Given the description of an element on the screen output the (x, y) to click on. 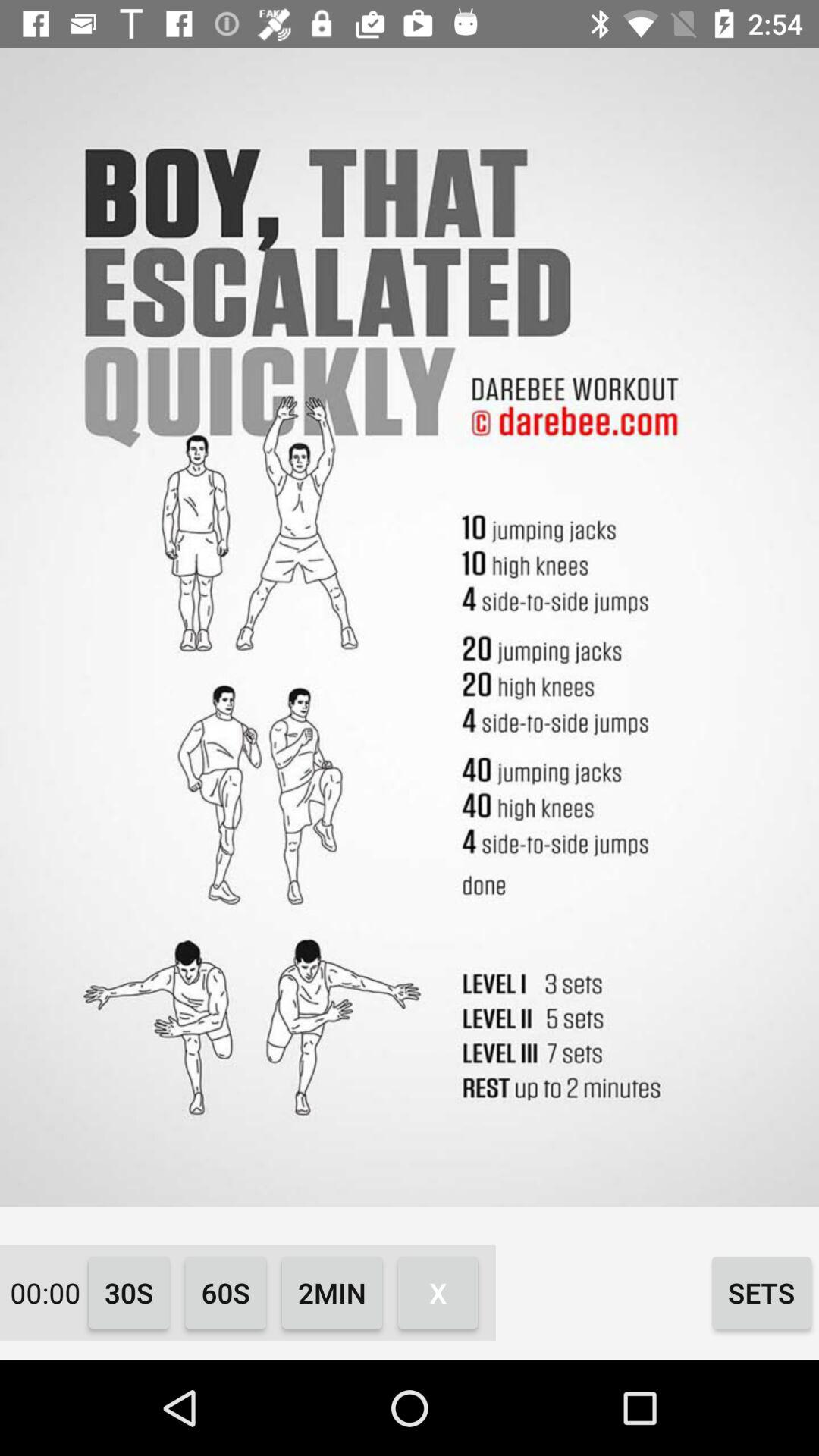
click the icon next to 60s icon (332, 1292)
